Given the description of an element on the screen output the (x, y) to click on. 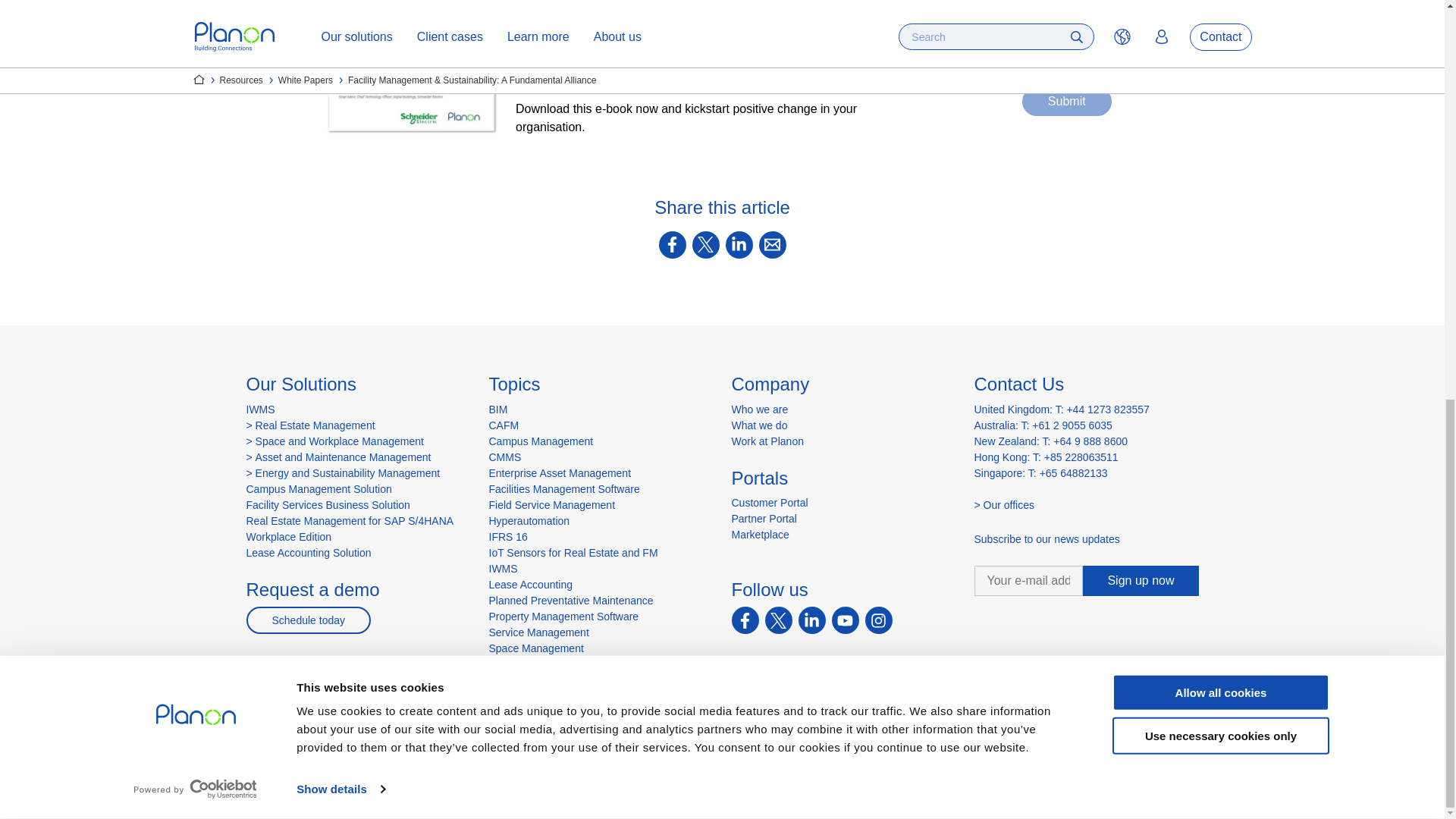
Show details (340, 11)
Sign up now (1140, 580)
